Given the description of an element on the screen output the (x, y) to click on. 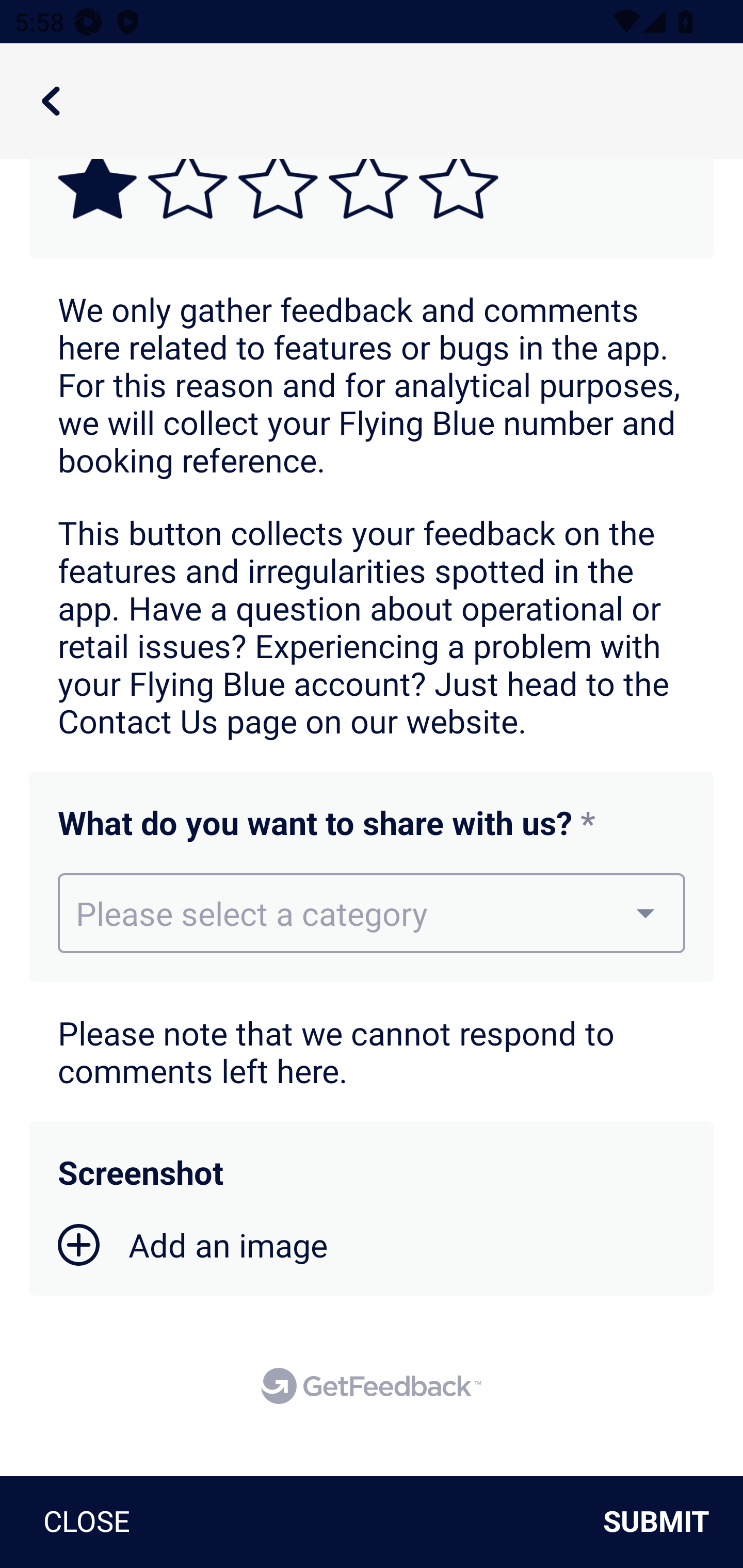
Navigate up (50, 101)
Please select a category (371, 913)
Add an image (192, 1244)
Powered by Usabilla (370, 1385)
CLOSE (79, 1521)
SUBMIT (663, 1521)
